Given the description of an element on the screen output the (x, y) to click on. 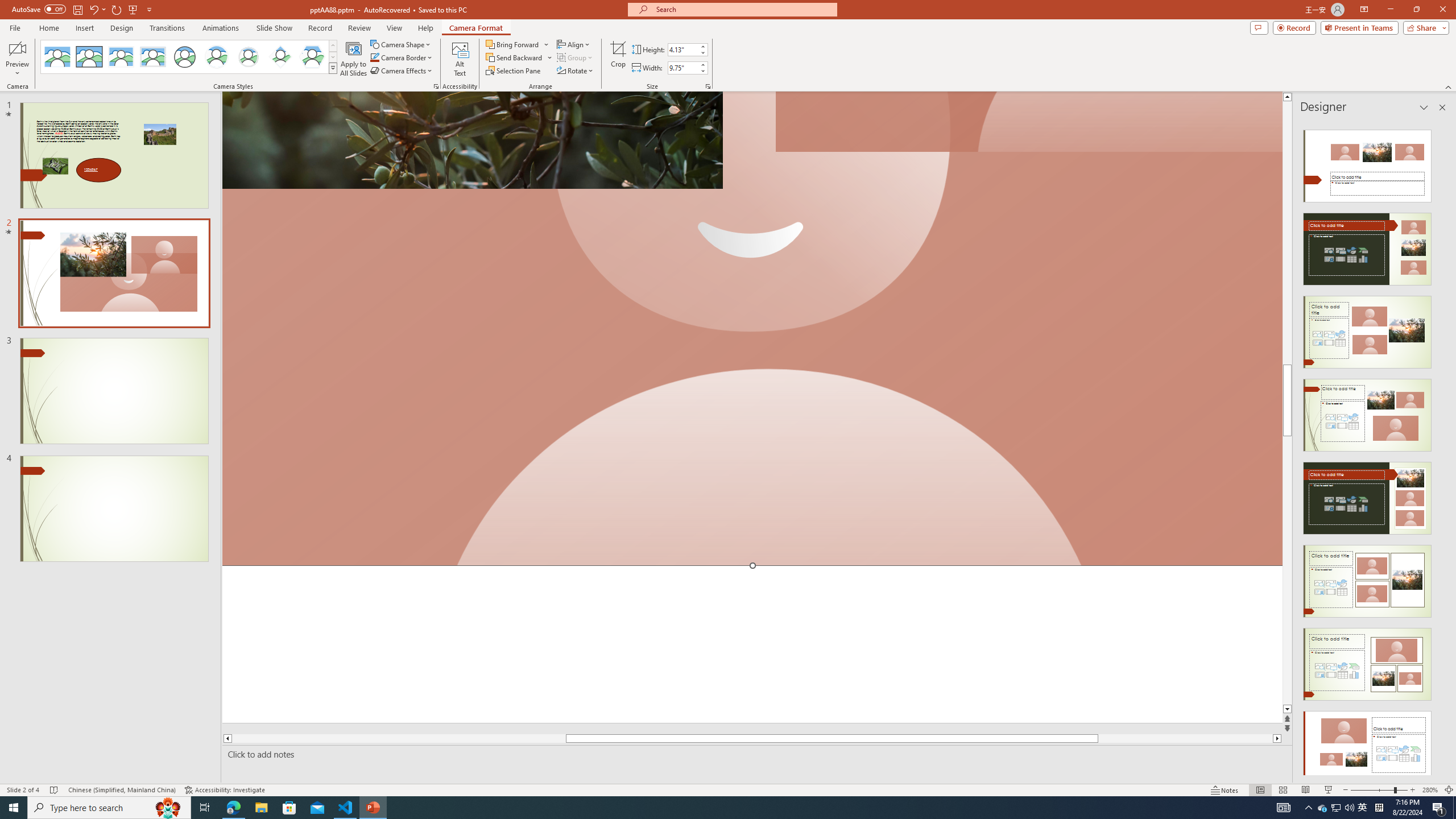
Bring Forward (517, 44)
Camera Format (475, 28)
Center Shadow Rectangle (120, 56)
Slide Notes (754, 754)
Close up of an olive branch on a sunset (472, 140)
